Given the description of an element on the screen output the (x, y) to click on. 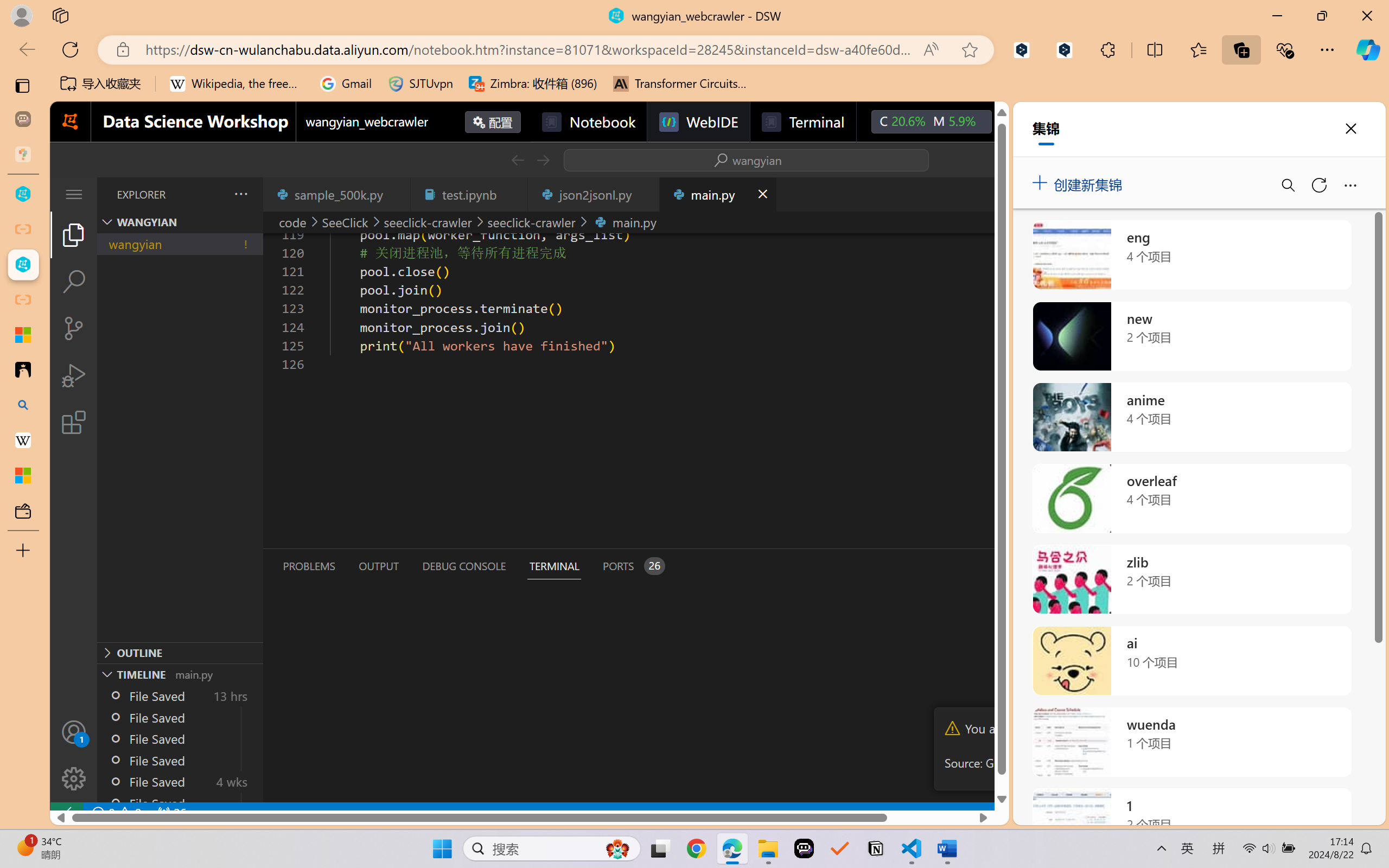
Transformer Circuits Thread (680, 83)
Earth - Wikipedia (22, 440)
icon (1015, 119)
Terminal actions (1002, 565)
Views and More Actions... (240, 193)
Explorer actions (212, 194)
No Problems (115, 812)
